Given the description of an element on the screen output the (x, y) to click on. 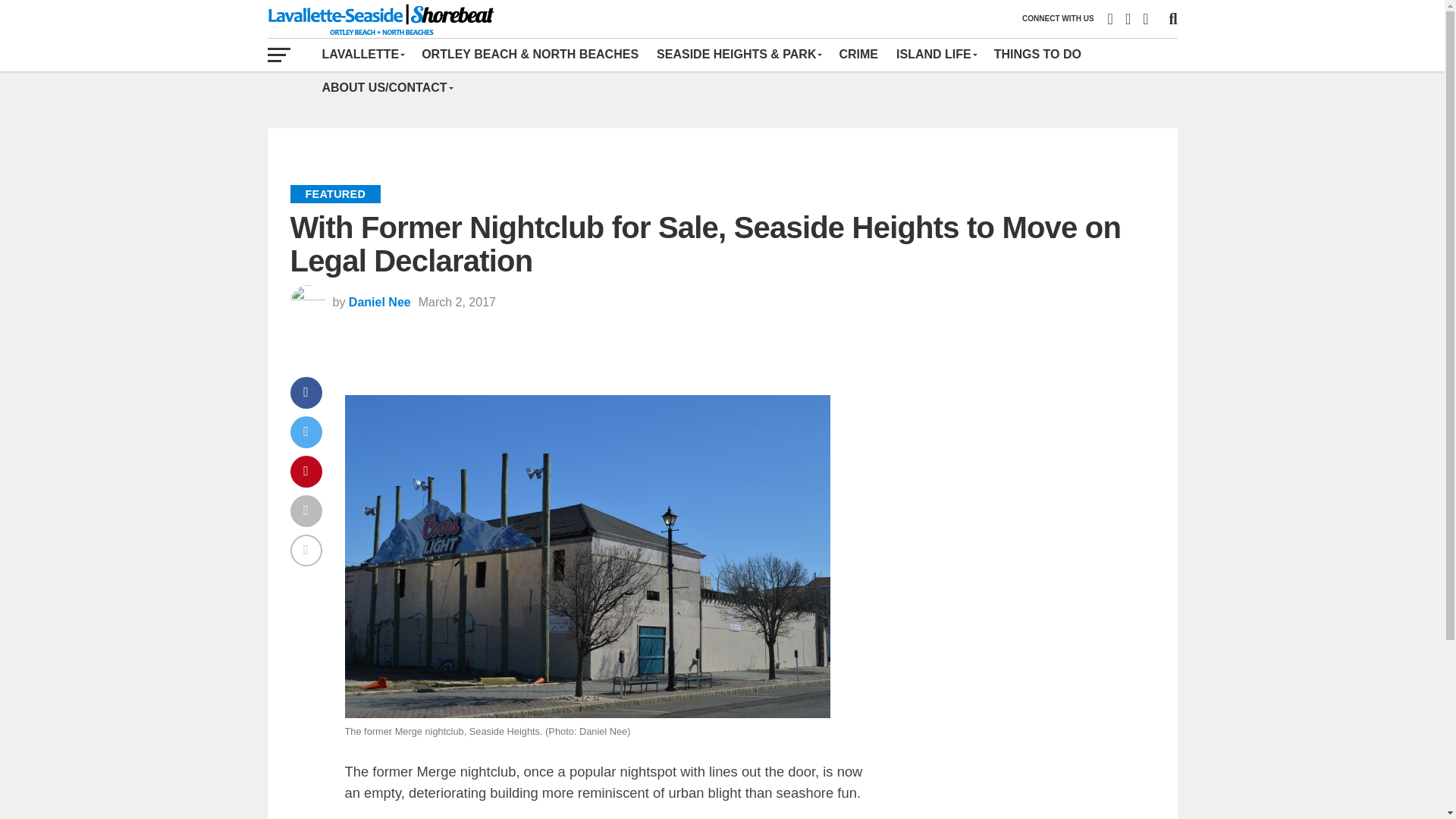
ISLAND LIFE (935, 54)
Posts by Daniel Nee (379, 301)
LAVALLETTE (362, 54)
CRIME (857, 54)
THINGS TO DO (1037, 54)
